Given the description of an element on the screen output the (x, y) to click on. 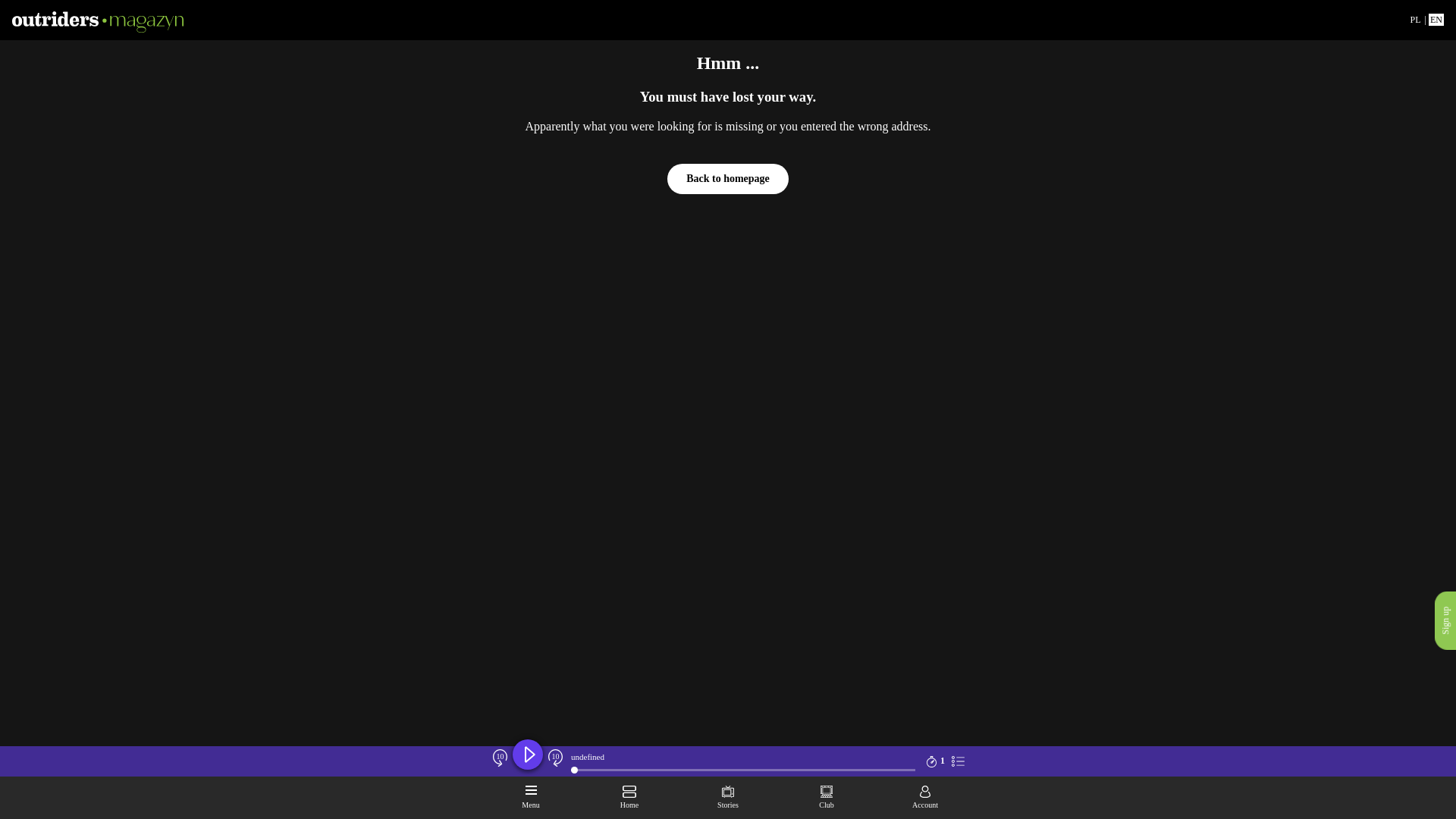
EN (1436, 19)
Back to homepage (727, 178)
PL (1415, 19)
